Given the description of an element on the screen output the (x, y) to click on. 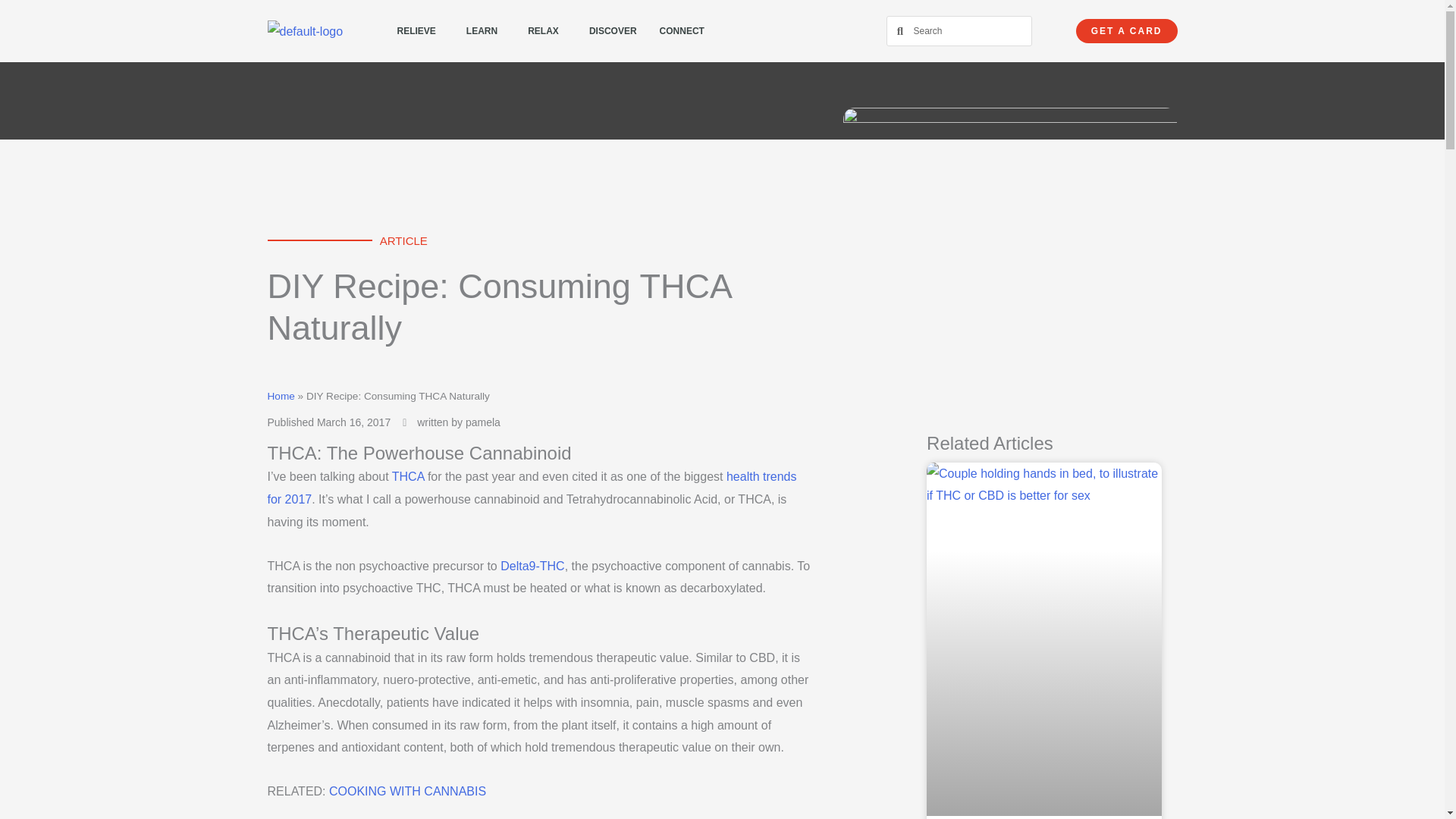
RELAX (547, 30)
GET A CARD (1126, 30)
LEARN (485, 30)
CONNECT (685, 30)
RELIEVE (419, 30)
DISCOVER (612, 30)
